Given the description of an element on the screen output the (x, y) to click on. 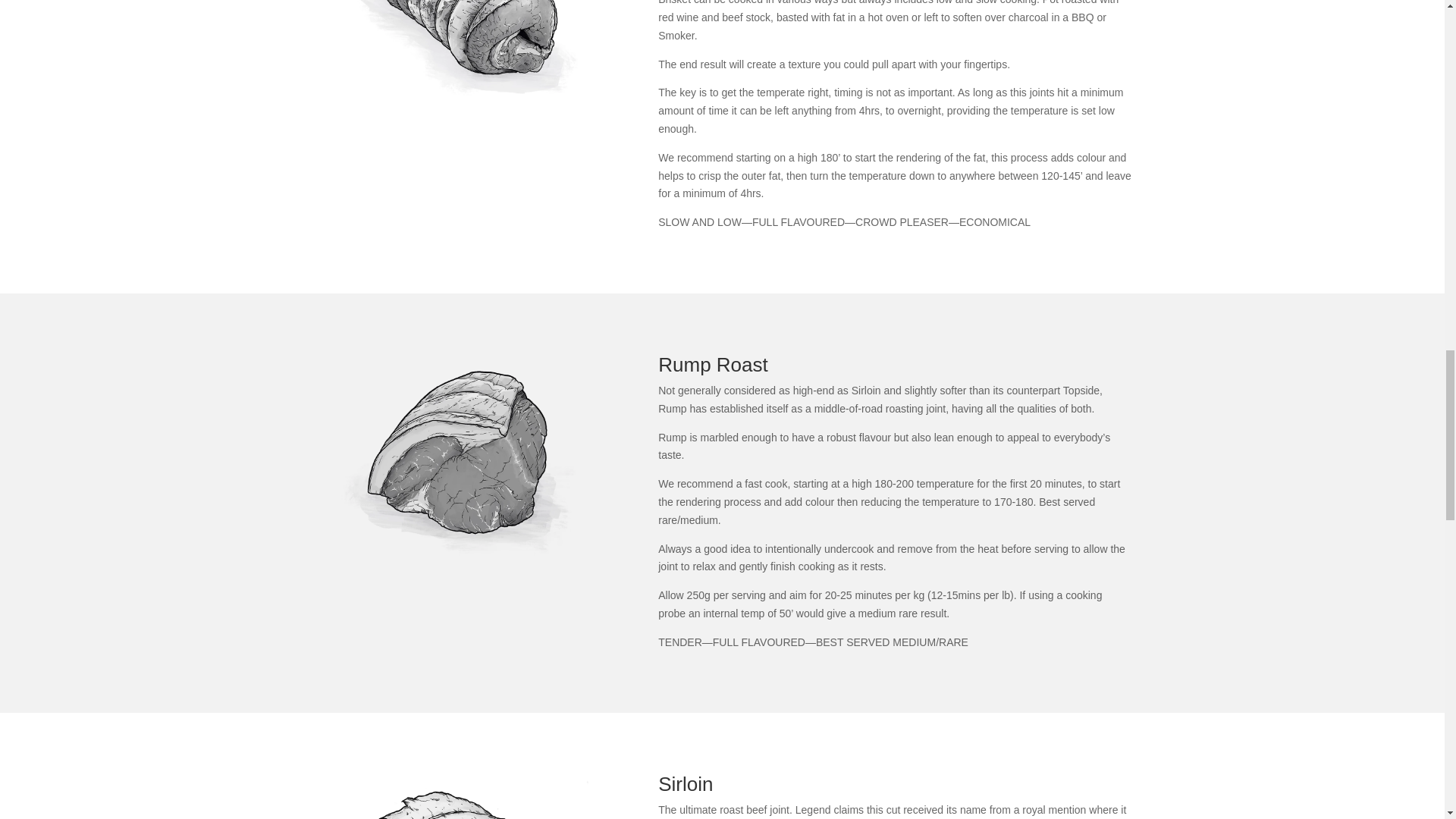
Brisket (462, 52)
Sirloin (462, 796)
